Given the description of an element on the screen output the (x, y) to click on. 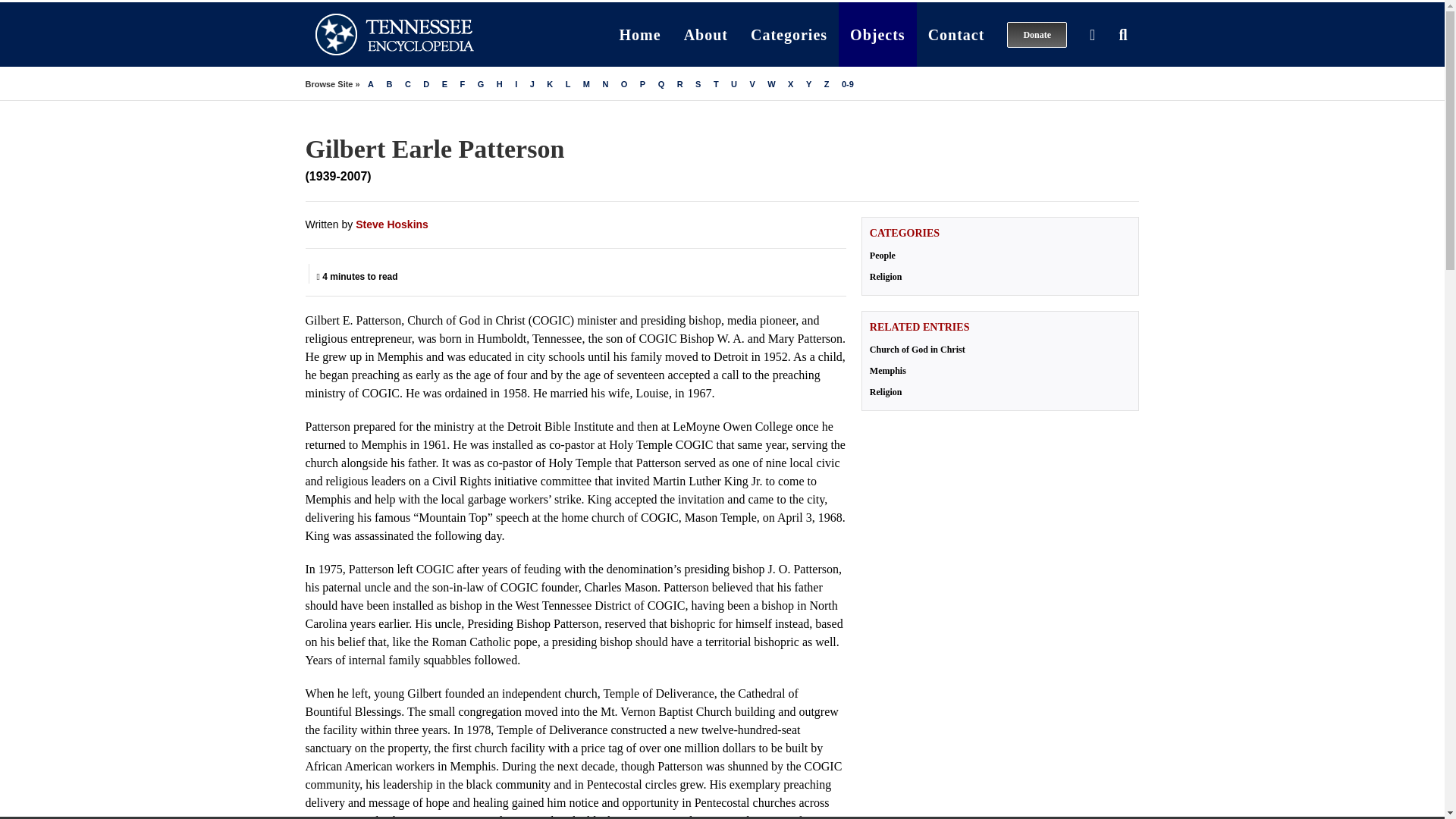
Objects (877, 34)
About (705, 34)
Read the entry. (1000, 349)
Learn more about Steve Hoskins. (391, 224)
Read the entry. (1000, 391)
Donate (1036, 34)
Contact (956, 34)
Home (640, 34)
Browse content in Religion. (1000, 276)
Read the entry. (1000, 370)
Categories (788, 34)
Browse content in People. (1000, 255)
